Given the description of an element on the screen output the (x, y) to click on. 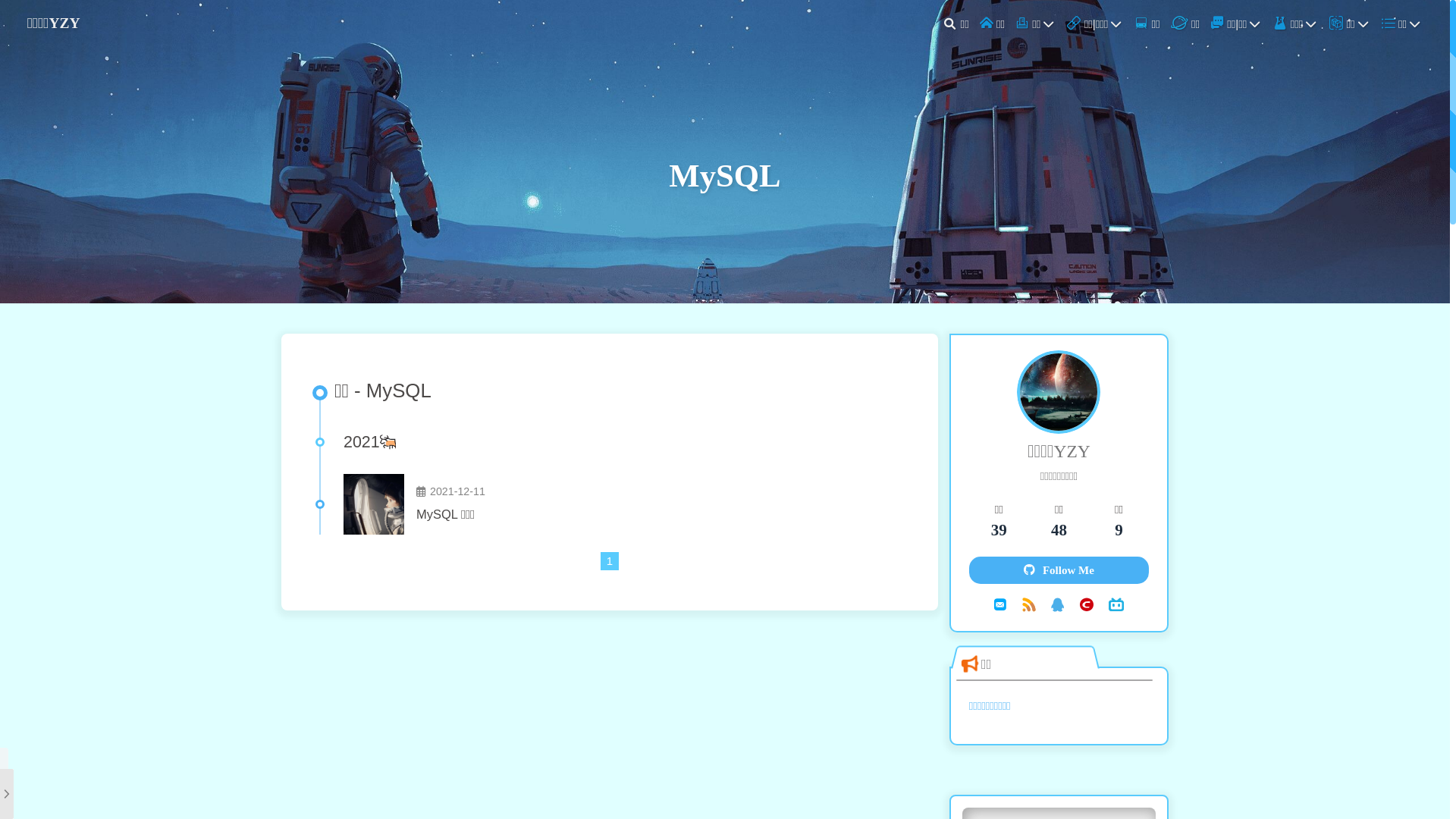
QQ Element type: hover (1057, 604)
RSS Element type: hover (1028, 604)
Email Element type: hover (1000, 604)
CSDN Element type: hover (1086, 604)
Follow Me Element type: text (1058, 569)
